Given the description of an element on the screen output the (x, y) to click on. 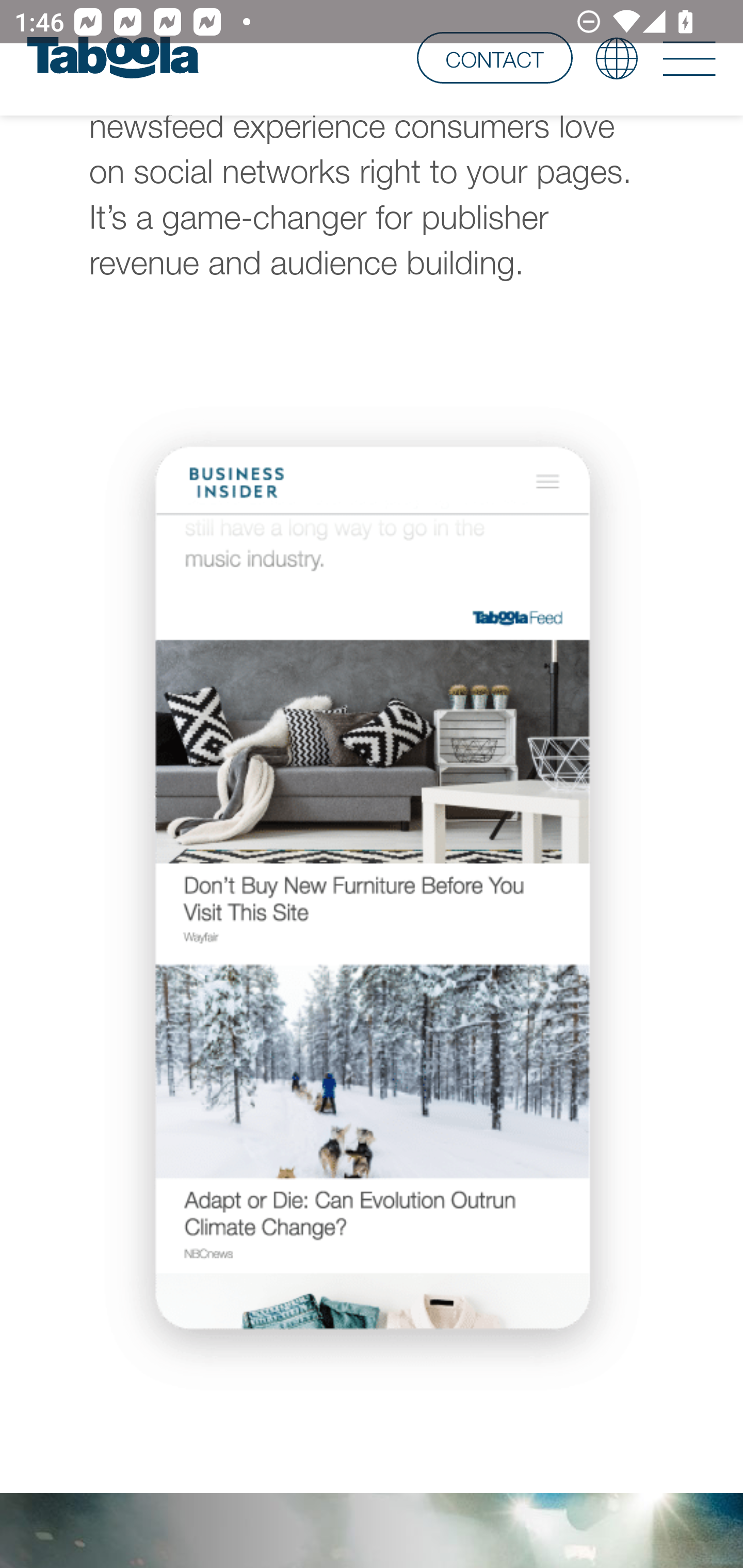
CONTACT (494, 56)
www.taboola (112, 57)
